Given the description of an element on the screen output the (x, y) to click on. 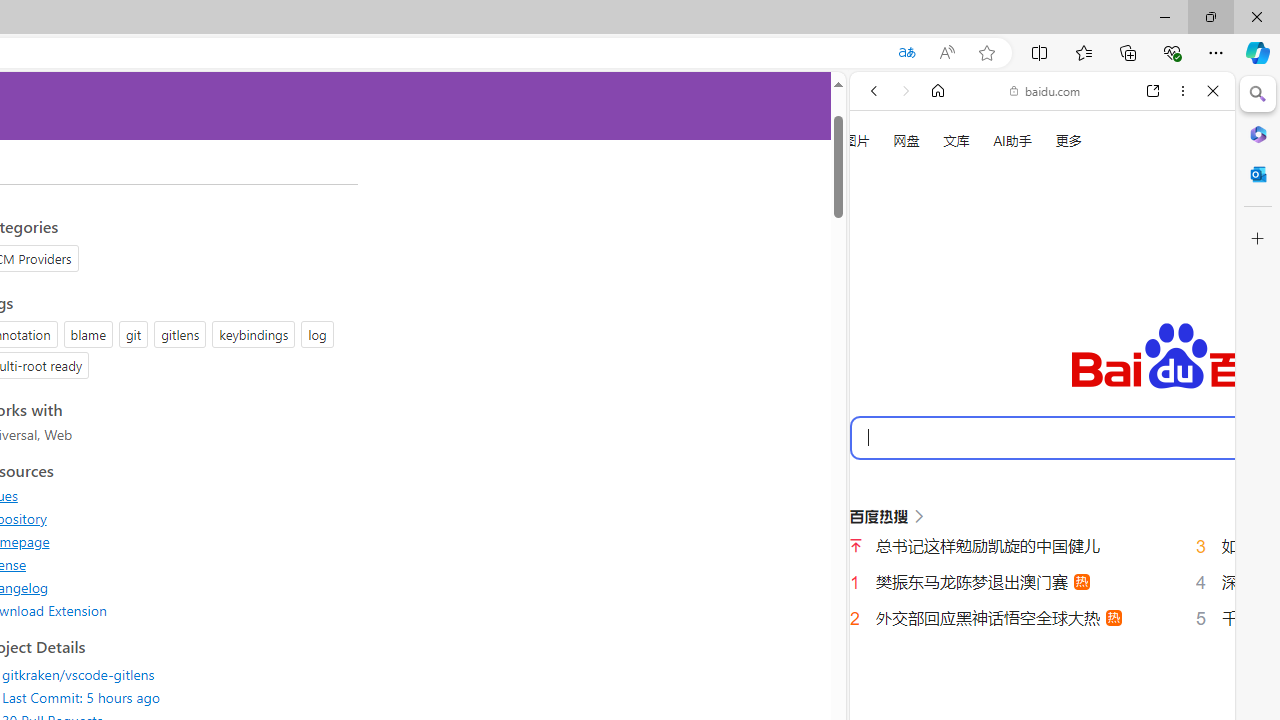
Search the web (1051, 137)
Open link in new tab (1153, 91)
SEARCH TOOLS (1093, 339)
Global web icon (888, 698)
Customize (1258, 239)
